Given the description of an element on the screen output the (x, y) to click on. 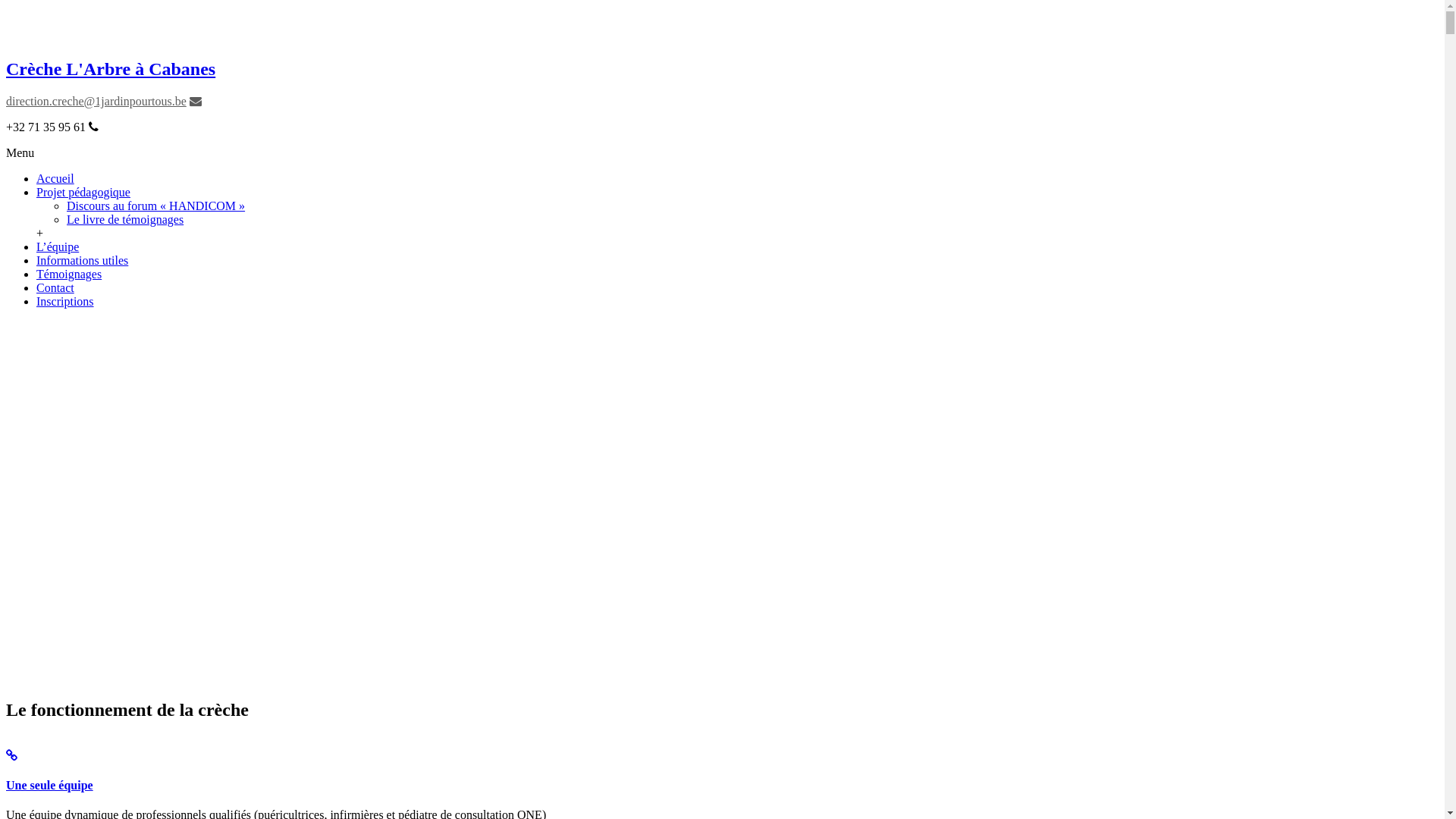
+ Element type: text (39, 232)
Accueil Element type: text (55, 178)
direction.creche@1jardinpourtous.be Element type: text (96, 100)
Inscriptions Element type: text (65, 300)
Informations utiles Element type: text (82, 260)
Contact Element type: text (55, 287)
